Given the description of an element on the screen output the (x, y) to click on. 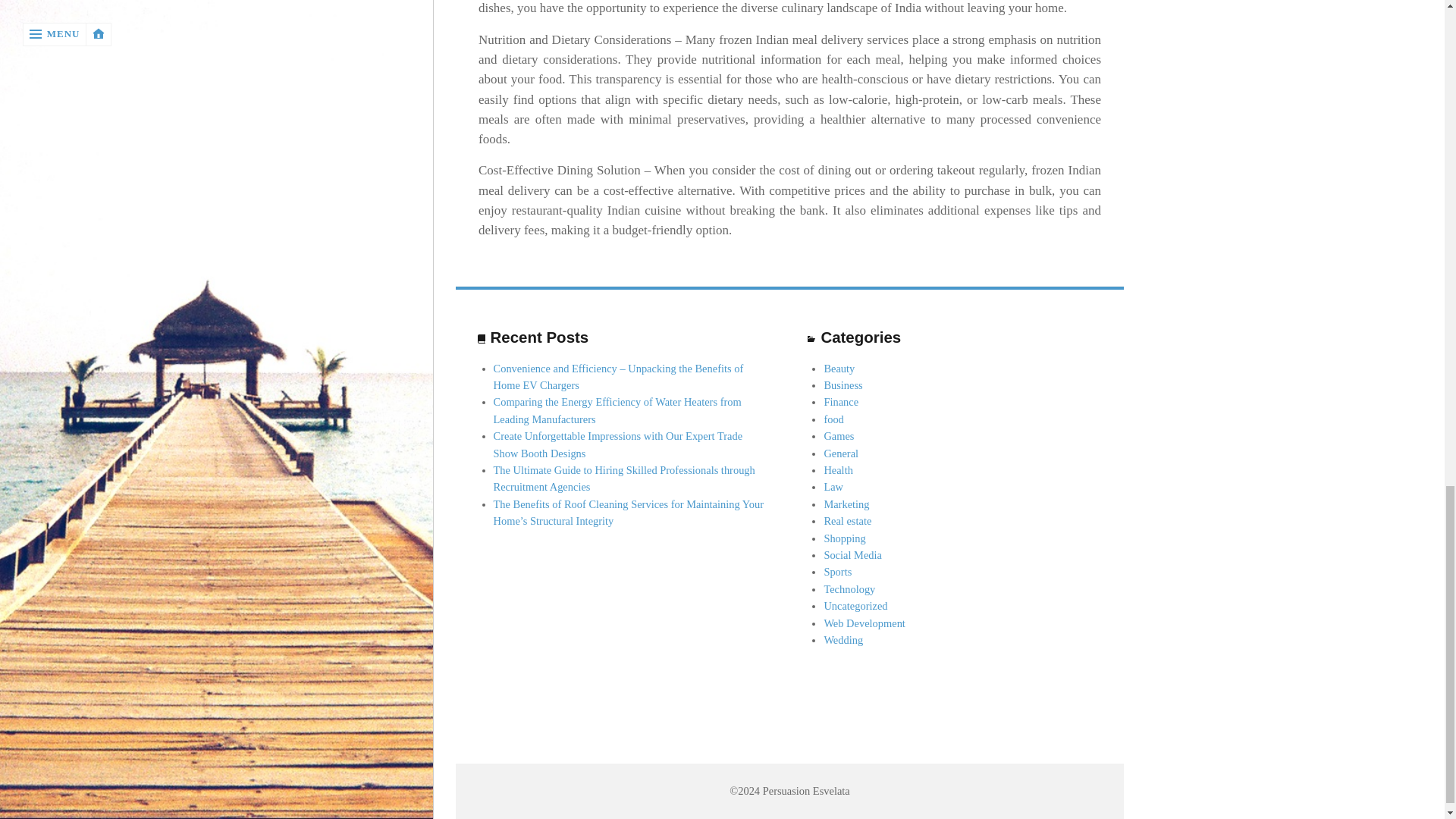
Marketing (846, 503)
Games (838, 435)
Real estate (847, 521)
Technology (849, 589)
Business (842, 385)
General (841, 453)
Beauty (839, 368)
Uncategorized (855, 605)
Shopping (844, 538)
